Given the description of an element on the screen output the (x, y) to click on. 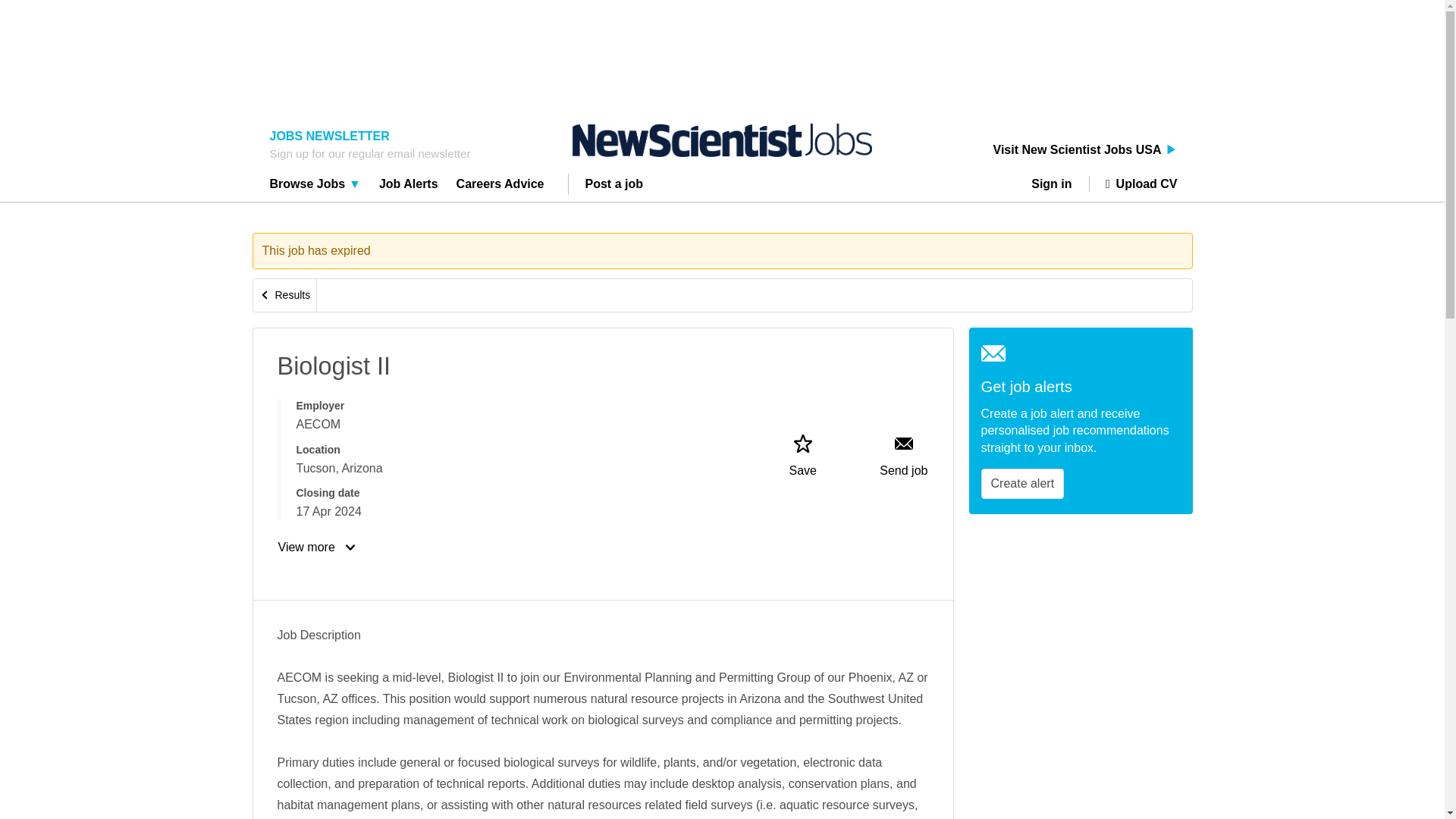
Sign in (1057, 183)
Careers Advice (500, 186)
View more (318, 547)
Upload CV (1133, 183)
Visit New Scientist Jobs USA (1084, 149)
Post a job (614, 186)
Job Alerts (409, 186)
New Scientist Jobs (722, 140)
Results (285, 295)
